Given the description of an element on the screen output the (x, y) to click on. 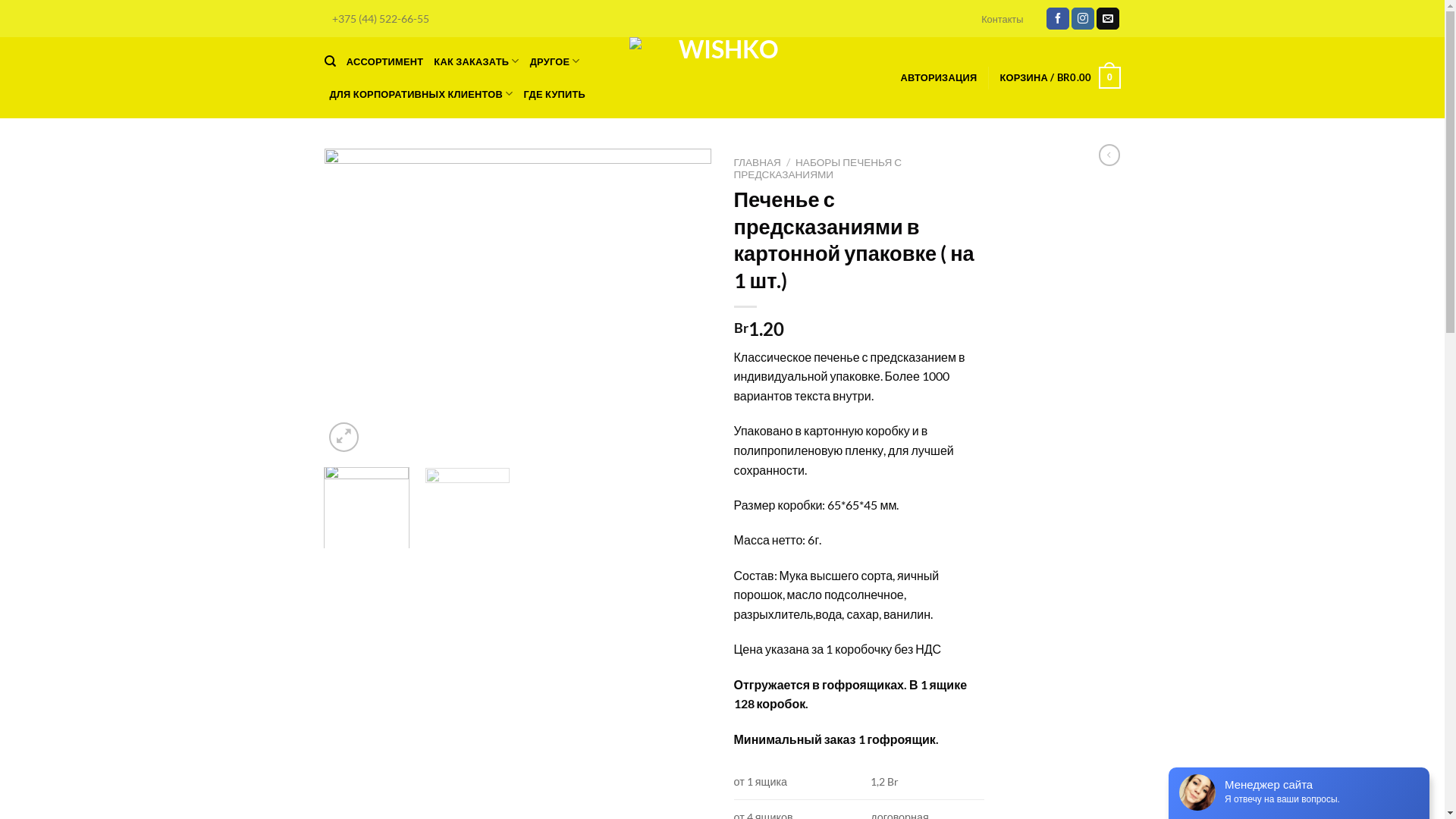
+375 (44) 522-66-55 Element type: text (380, 18)
